Given the description of an element on the screen output the (x, y) to click on. 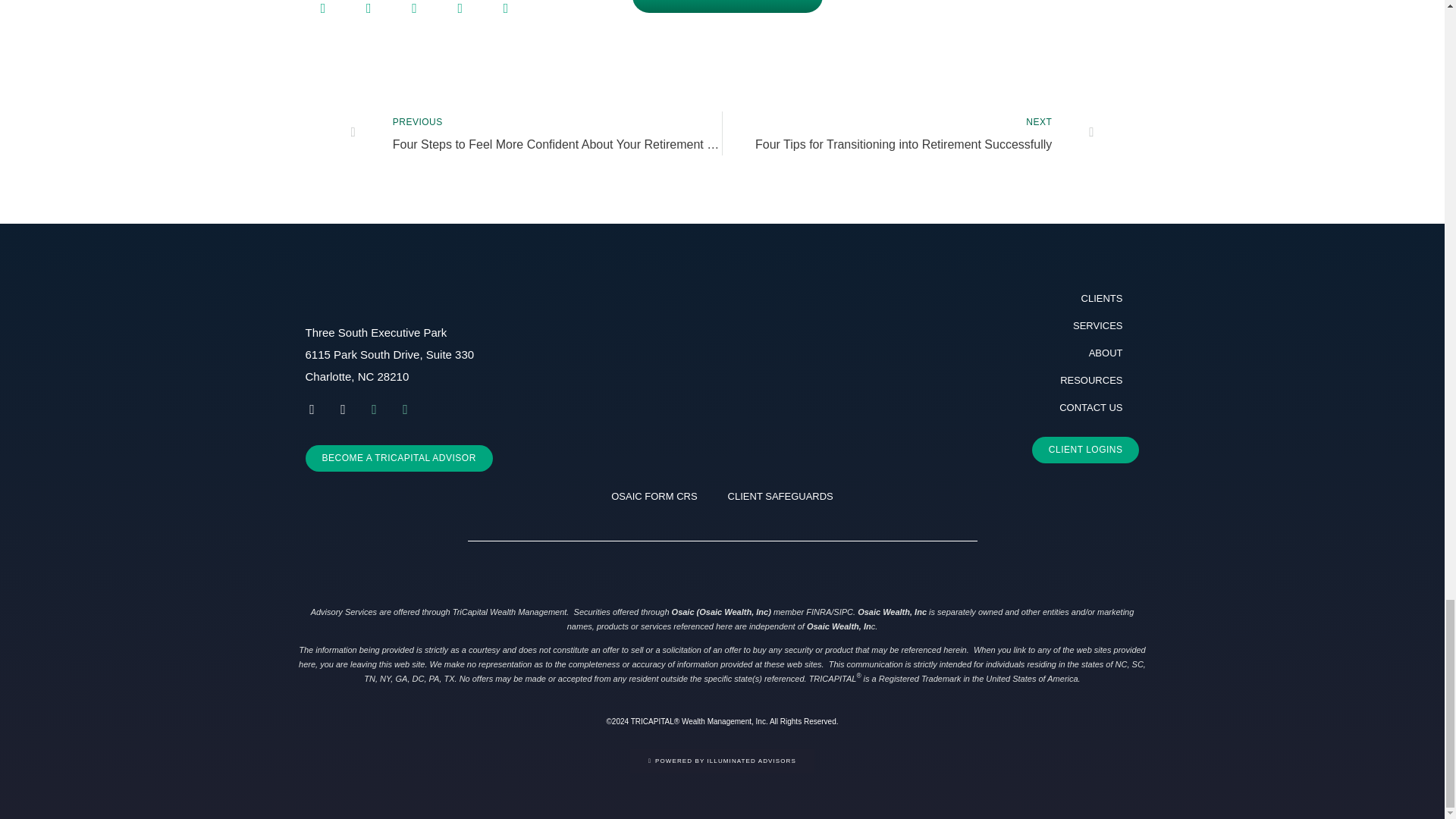
JOIN OUR MAILING LIST (726, 6)
CONTACT US (1004, 407)
SERVICES (1004, 325)
ABOUT (1004, 352)
RESOURCES (1004, 379)
BECOME A TRICAPITAL ADVISOR (398, 458)
CLIENTS (1004, 298)
